Given the description of an element on the screen output the (x, y) to click on. 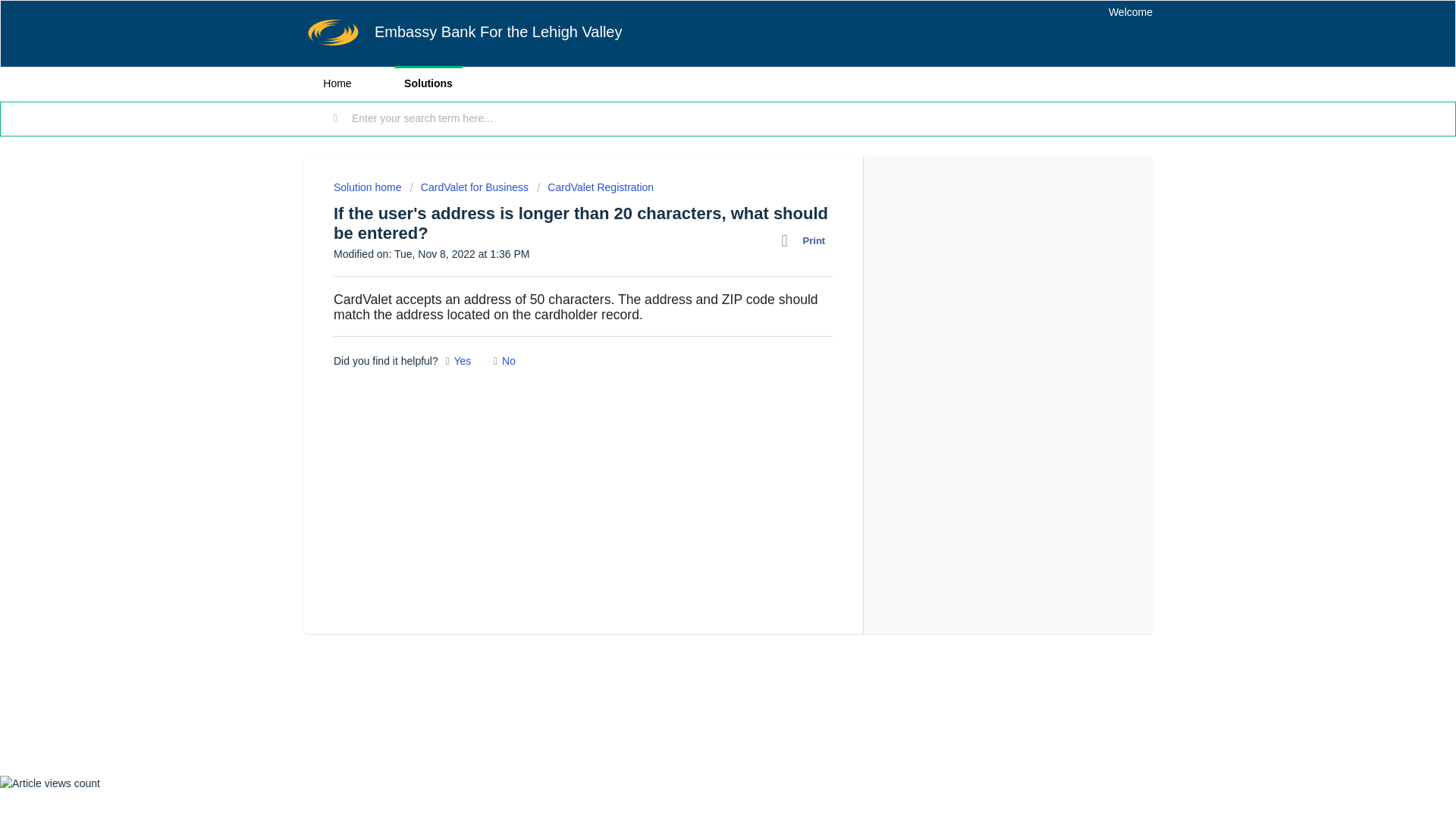
Home (336, 83)
Print this Article (806, 240)
Solutions (428, 83)
CardValet for Business (468, 186)
Print (806, 240)
CardValet Registration (595, 186)
Solution home (368, 186)
